Given the description of an element on the screen output the (x, y) to click on. 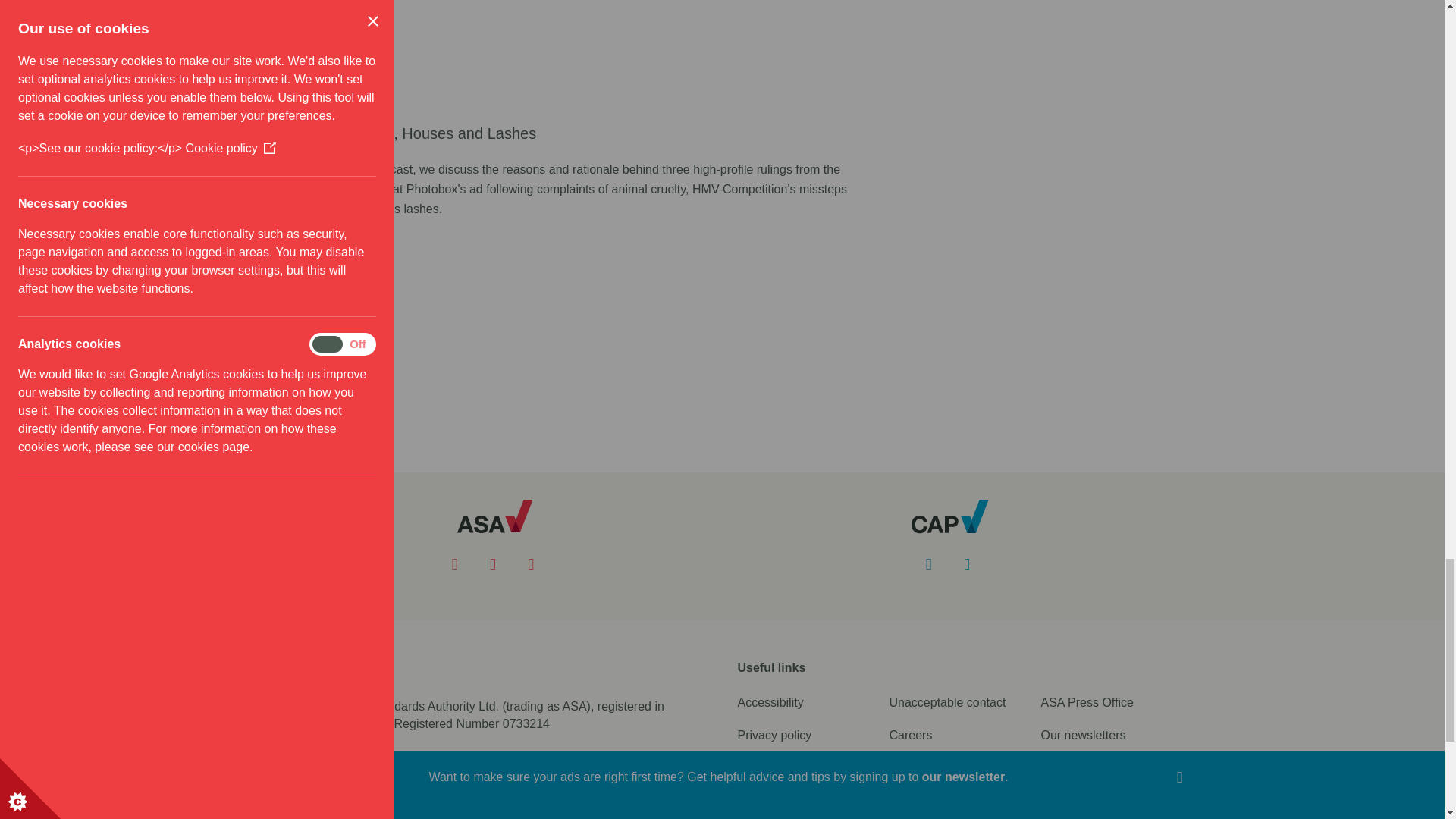
Careers (909, 735)
Cookies policy (775, 767)
Our newsletters (1083, 735)
Accessibility (769, 702)
Transparency (925, 767)
Privacy policy (773, 735)
